Given the description of an element on the screen output the (x, y) to click on. 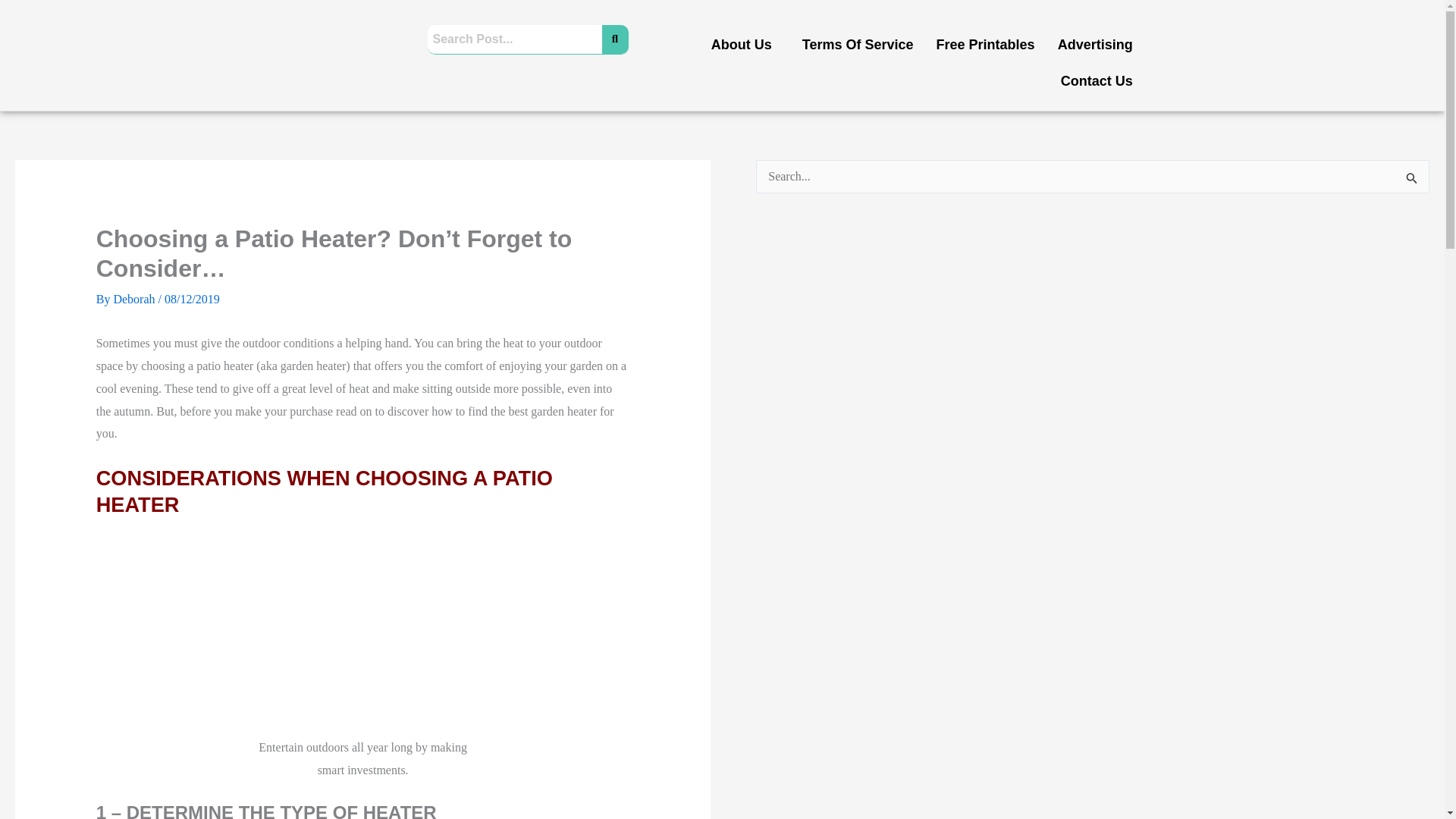
About Us (745, 44)
Search (515, 39)
Terms Of Service (857, 44)
Contact Us (1096, 81)
Deborah (135, 298)
Advertising (1095, 44)
Free Printables (985, 44)
View all posts by Deborah (135, 298)
